Given the description of an element on the screen output the (x, y) to click on. 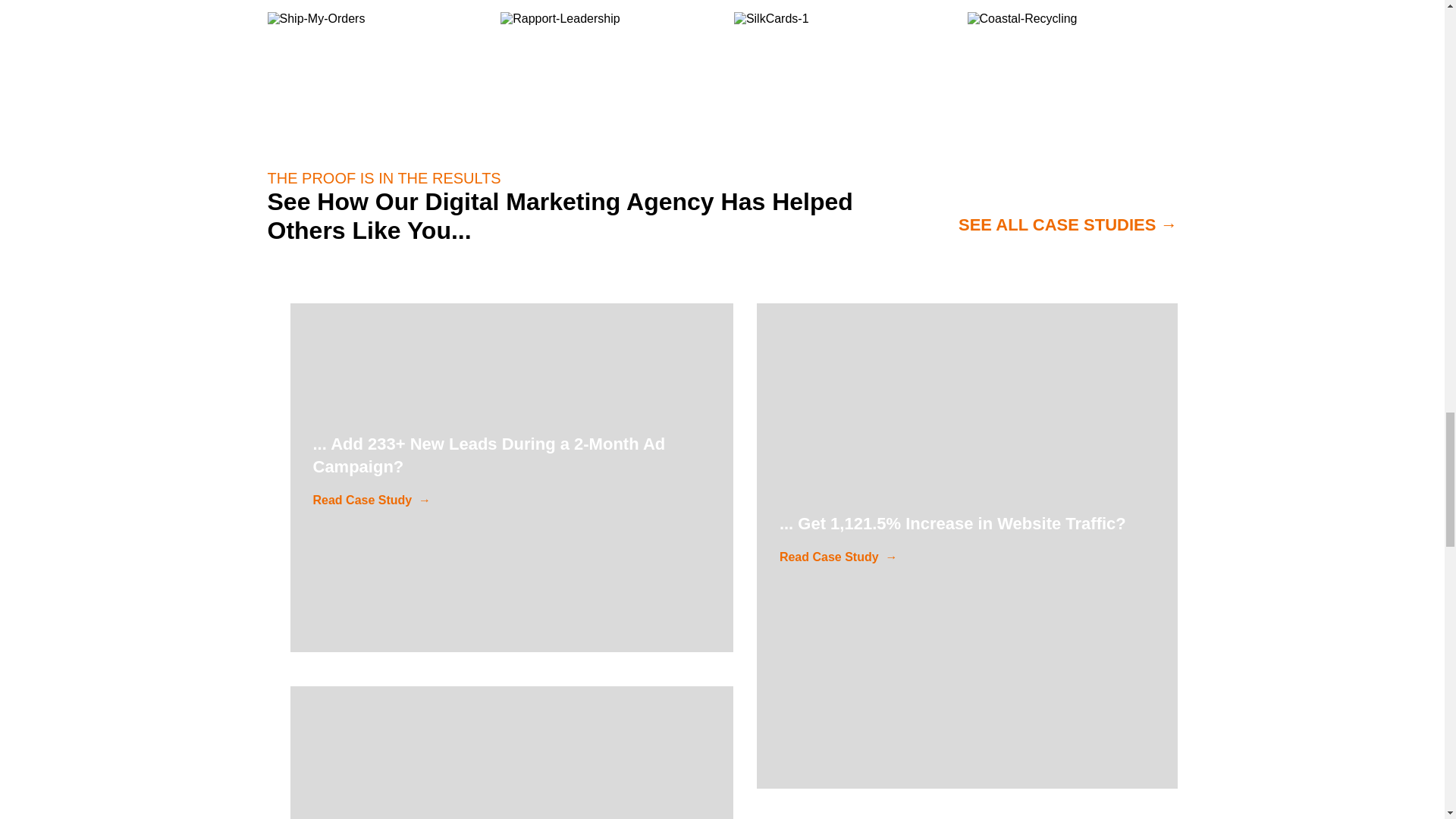
SilkCards-1 (771, 18)
Rapport-Leadership (560, 18)
Ship-My-Orders (315, 18)
